Given the description of an element on the screen output the (x, y) to click on. 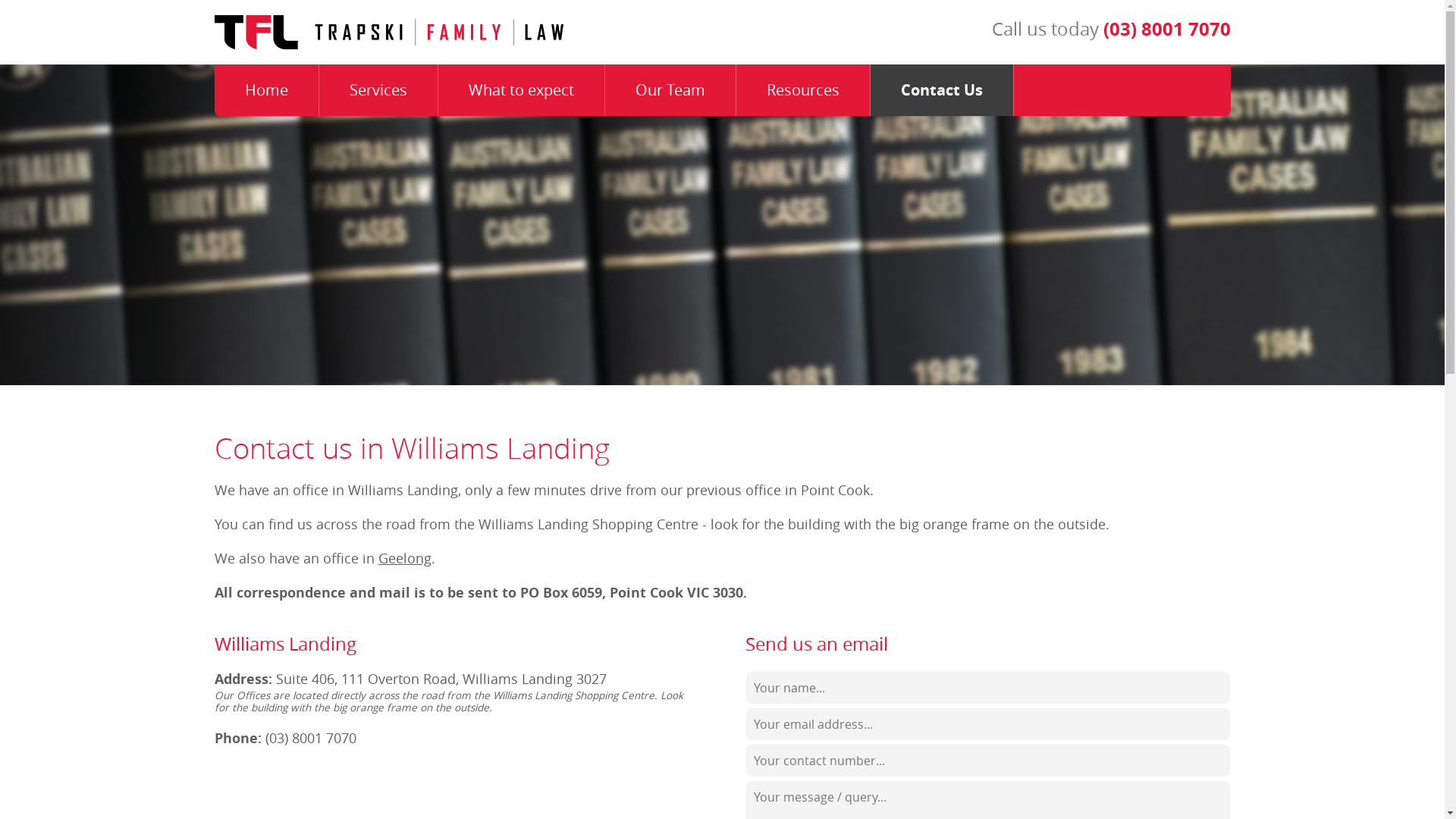
Resources Element type: text (802, 90)
What to expect Element type: text (521, 90)
Geelong Element type: text (403, 558)
Our Team Element type: text (670, 90)
Home Element type: text (265, 90)
(03) 8001 7070 Element type: text (1166, 28)
Services Element type: text (377, 90)
Contact Us Element type: text (941, 90)
